Given the description of an element on the screen output the (x, y) to click on. 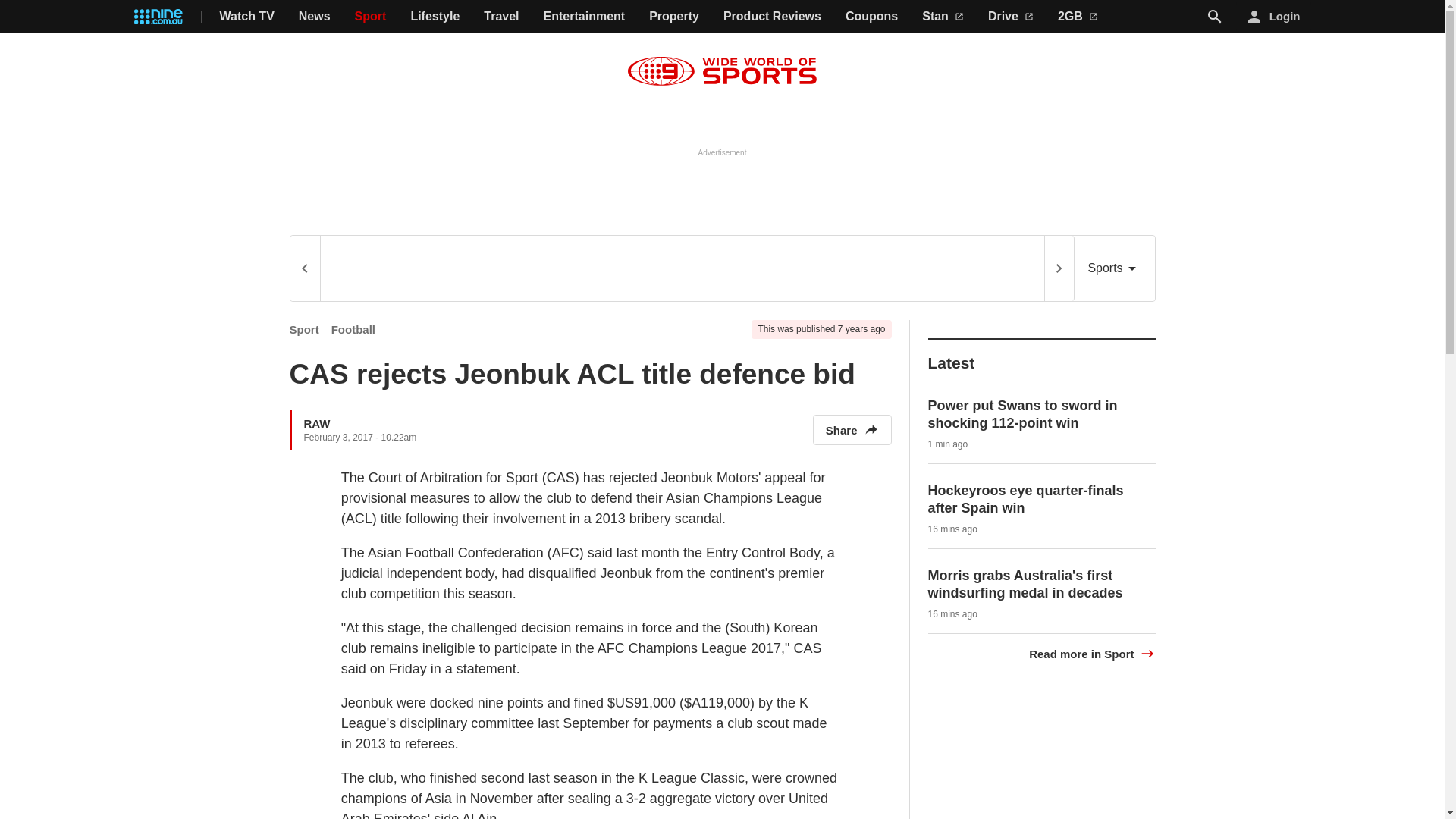
Power put Swans to sword in shocking 112-point win (1023, 414)
Football (353, 328)
Search (1214, 16)
2GB (1077, 16)
Lifestyle (435, 16)
Stan (942, 16)
Login (1273, 16)
Travel (500, 16)
Entertainment (584, 16)
Share (851, 429)
Read more in Sport (1091, 653)
Hockeyroos eye quarter-finals after Spain win (1026, 499)
Morris grabs Australia's first windsurfing medal in decades (1025, 584)
Sport (371, 16)
Sports (1114, 268)
